Given the description of an element on the screen output the (x, y) to click on. 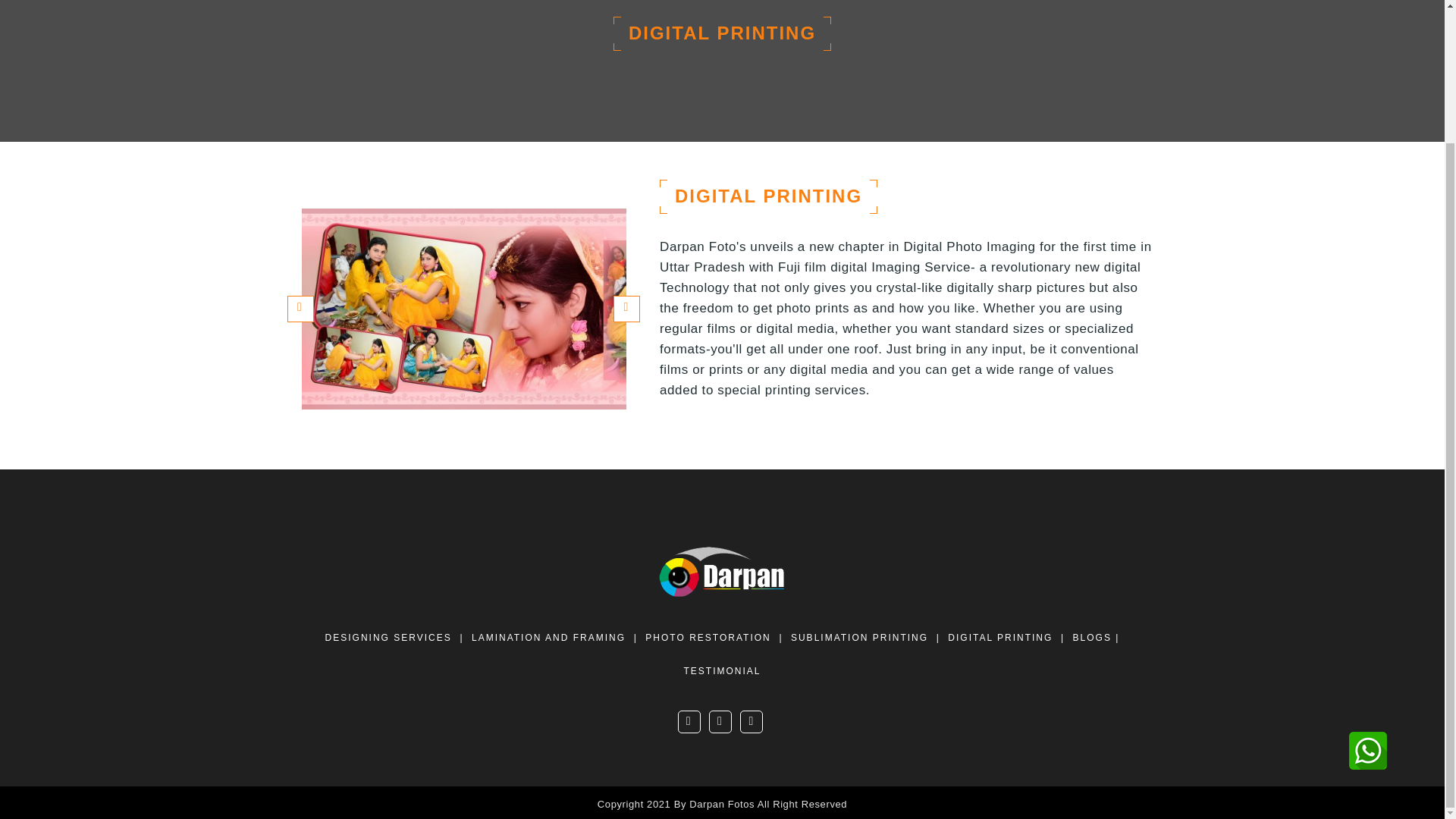
TESTIMONIAL (721, 670)
